Given the description of an element on the screen output the (x, y) to click on. 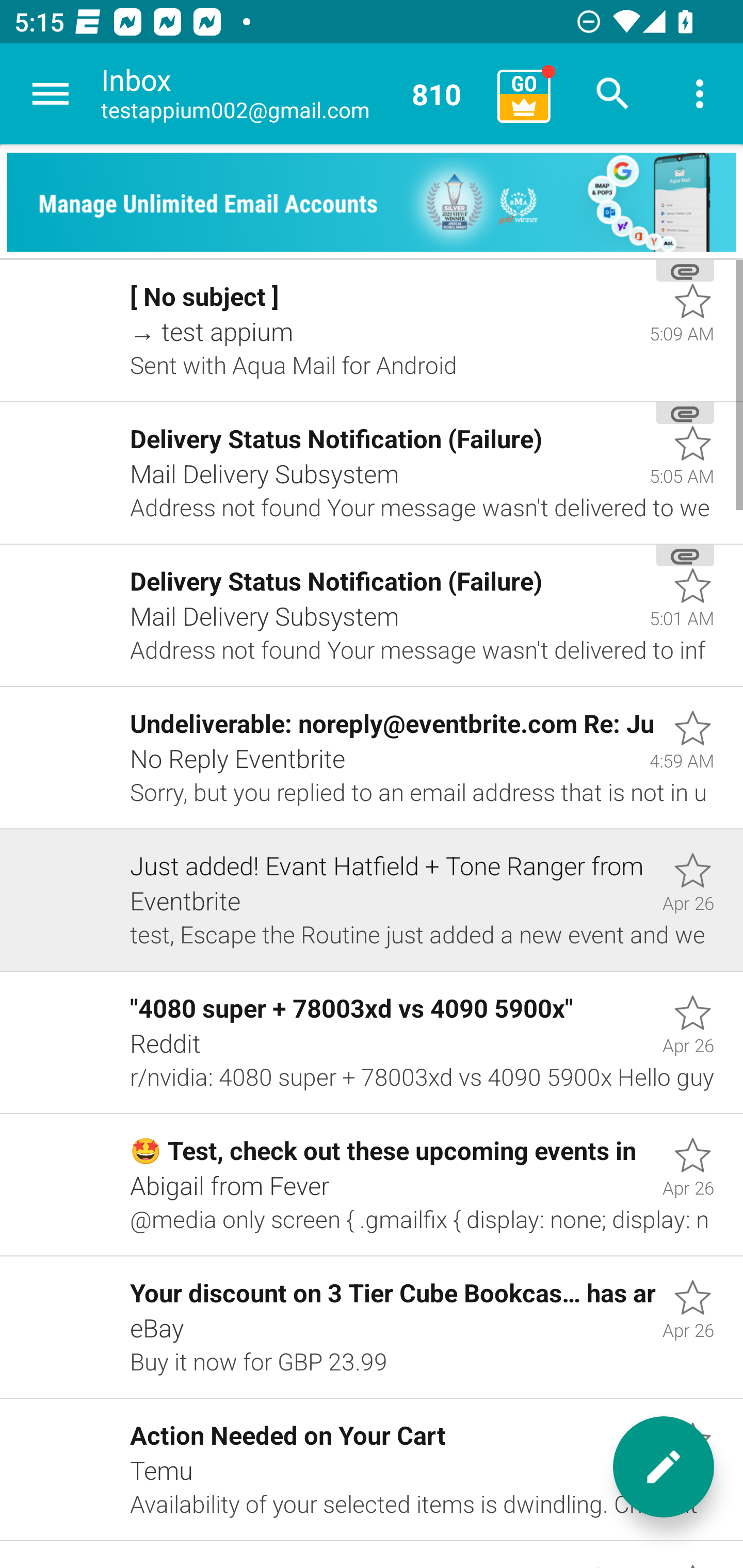
Navigate up (50, 93)
Inbox testappium002@gmail.com 810 (291, 93)
Search (612, 93)
More options (699, 93)
New message (663, 1466)
